Given the description of an element on the screen output the (x, y) to click on. 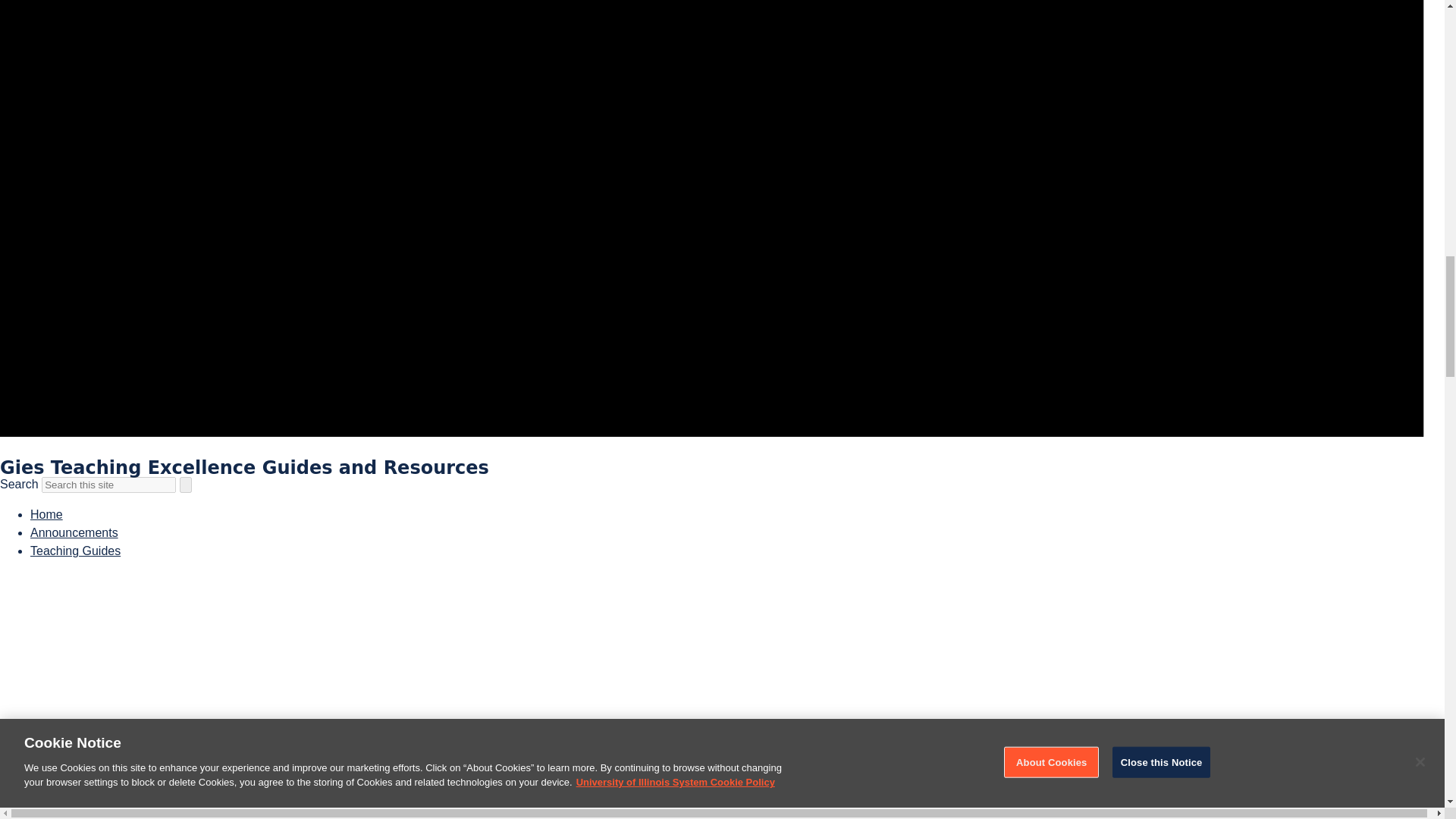
Teaching Guides (75, 550)
Home (46, 513)
Gies Teaching Excellence Guides and Resources (244, 467)
Announcements (73, 532)
